Given the description of an element on the screen output the (x, y) to click on. 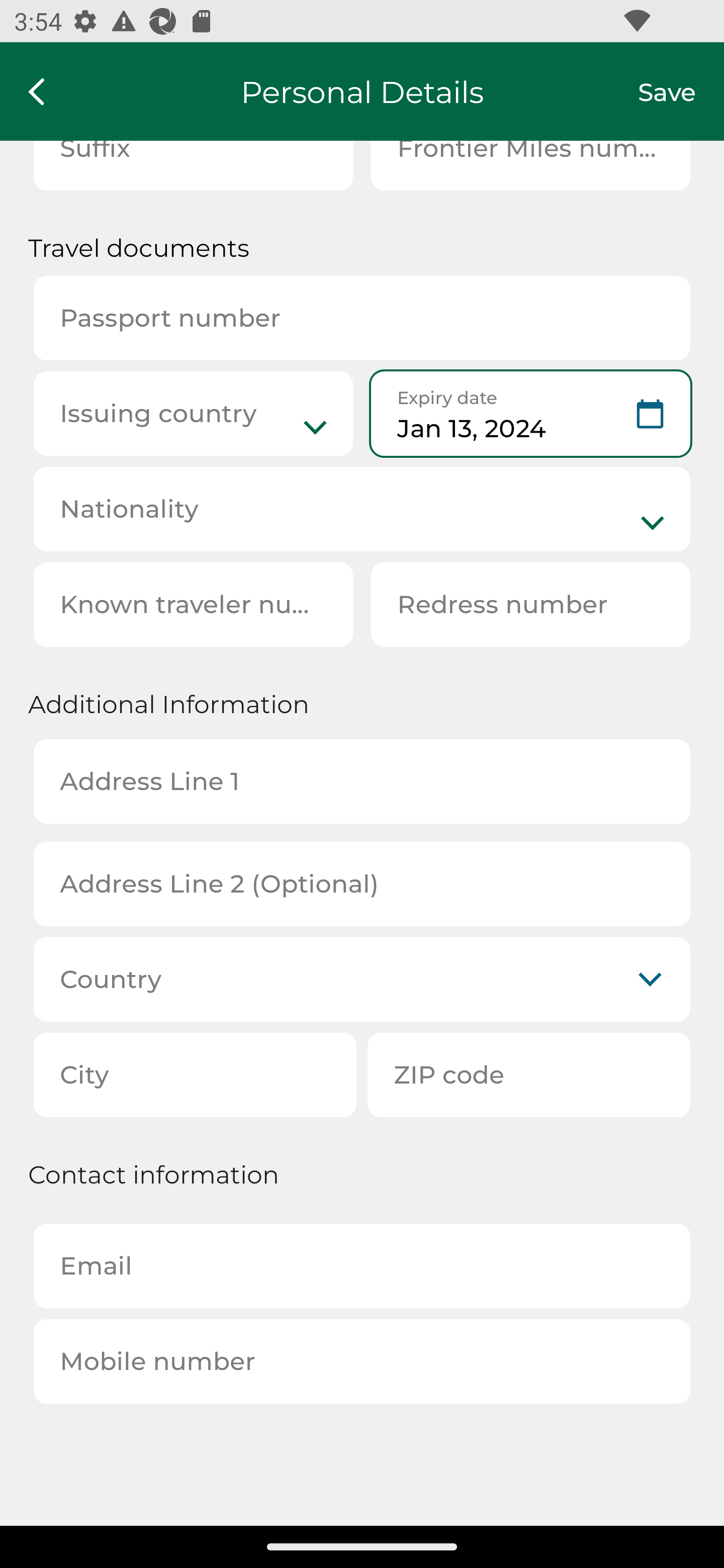
Save (680, 91)
Passport number (361, 318)
Issuing country (192, 413)
Jan 13, 2024 (530, 413)
Nationality (361, 508)
Known traveler number (192, 604)
Redress number (530, 604)
Address Line 1 (361, 781)
Address Line 2 (Optional) (361, 884)
Country (361, 978)
City (194, 1074)
ZIP code (528, 1074)
Email (361, 1265)
Mobile number (361, 1360)
